Given the description of an element on the screen output the (x, y) to click on. 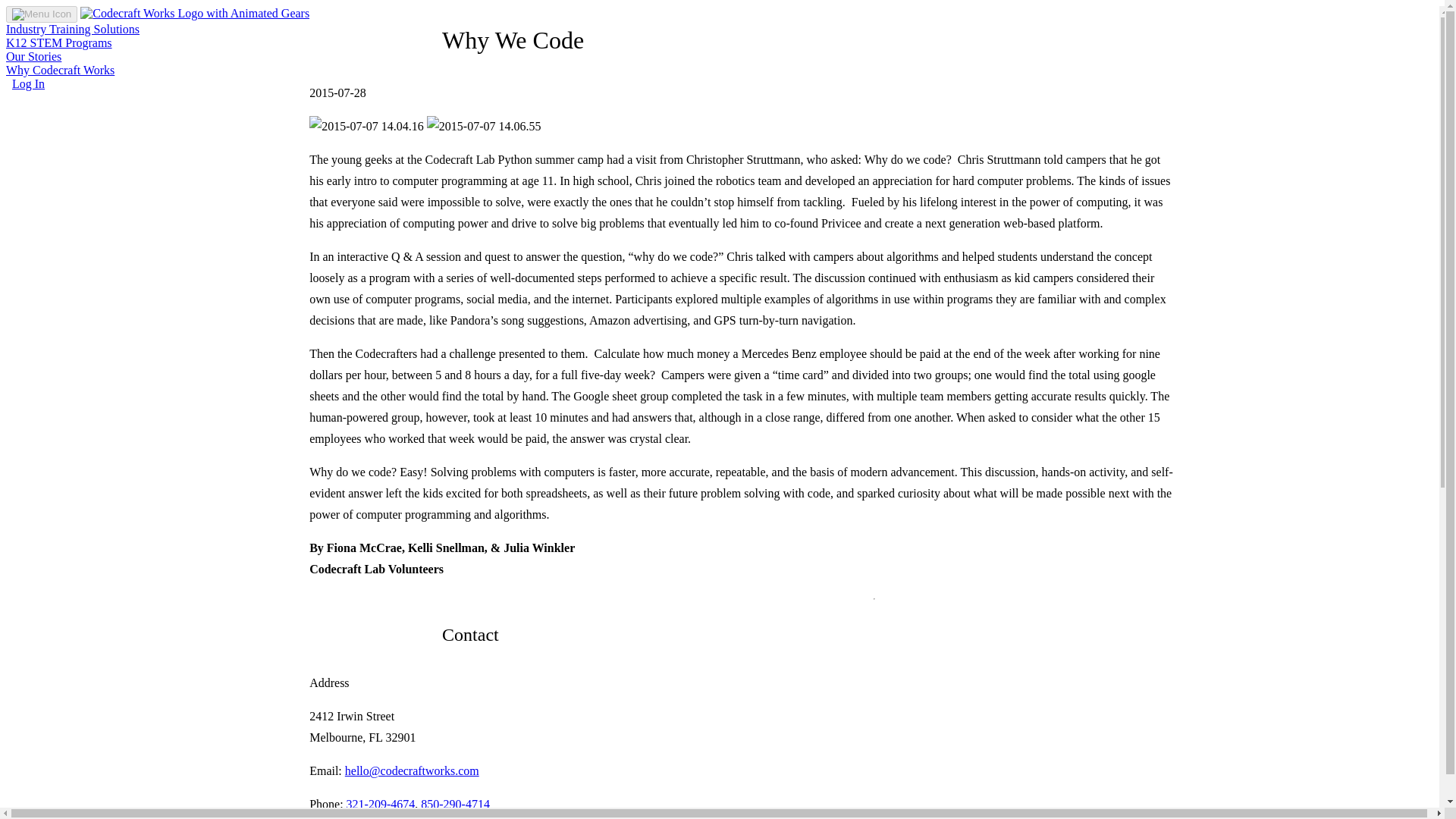
850-290-4714 (454, 803)
Why Codecraft Works (156, 76)
Our Stories (156, 56)
K12 STEM Programs (156, 42)
Industry Training Solutions (156, 29)
321-209-4674 (380, 803)
Log In (28, 83)
